Given the description of an element on the screen output the (x, y) to click on. 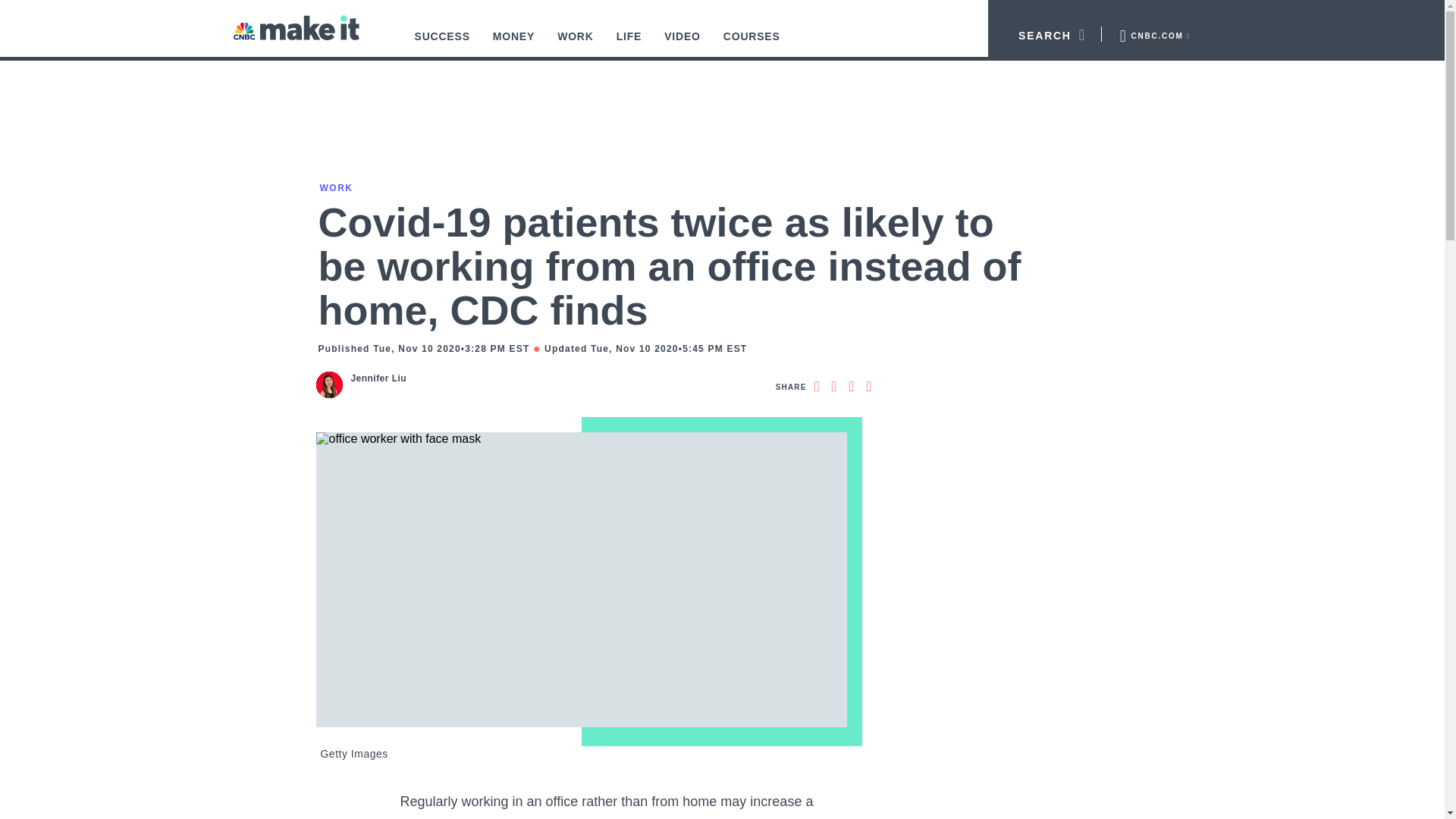
SEARCH (1045, 33)
LIFE (629, 44)
VIDEO (681, 44)
Jennifer Liu (378, 378)
COURSES (751, 44)
SUCCESS (442, 44)
WORK (334, 187)
MONEY (513, 44)
Share Article via Facebook (816, 386)
WORK (575, 44)
